Given the description of an element on the screen output the (x, y) to click on. 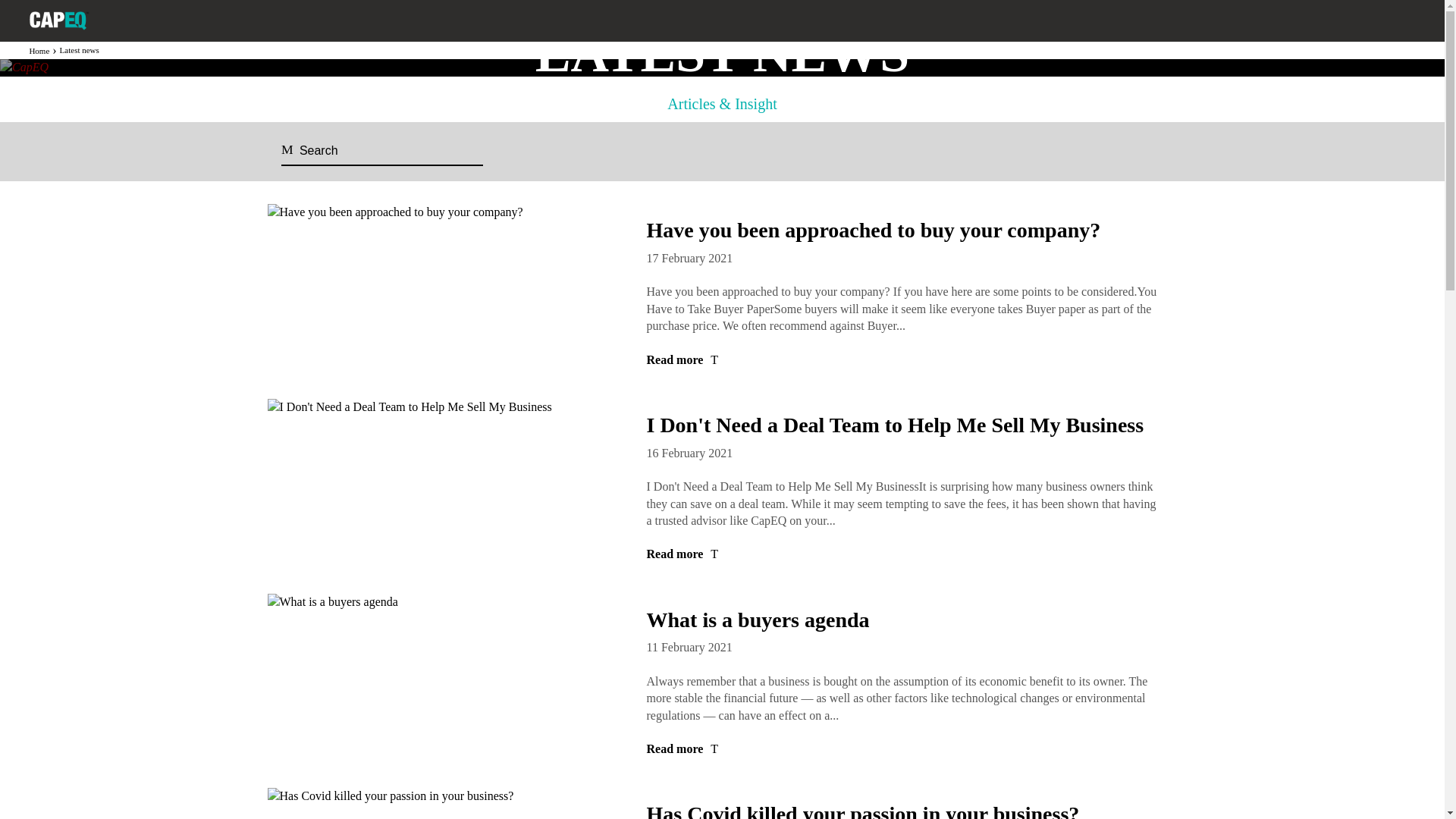
What is a buyers agenda (757, 619)
Read more (903, 749)
Home (39, 50)
Read more (903, 360)
I Don't Need a Deal Team to Help Me Sell My Business (894, 424)
cap-eq-logo-watermark-LRG- WHITE (58, 20)
Has Covid killed your passion in your business? (862, 810)
Have you been approached to buy your company? (873, 229)
Read more (903, 554)
